Given the description of an element on the screen output the (x, y) to click on. 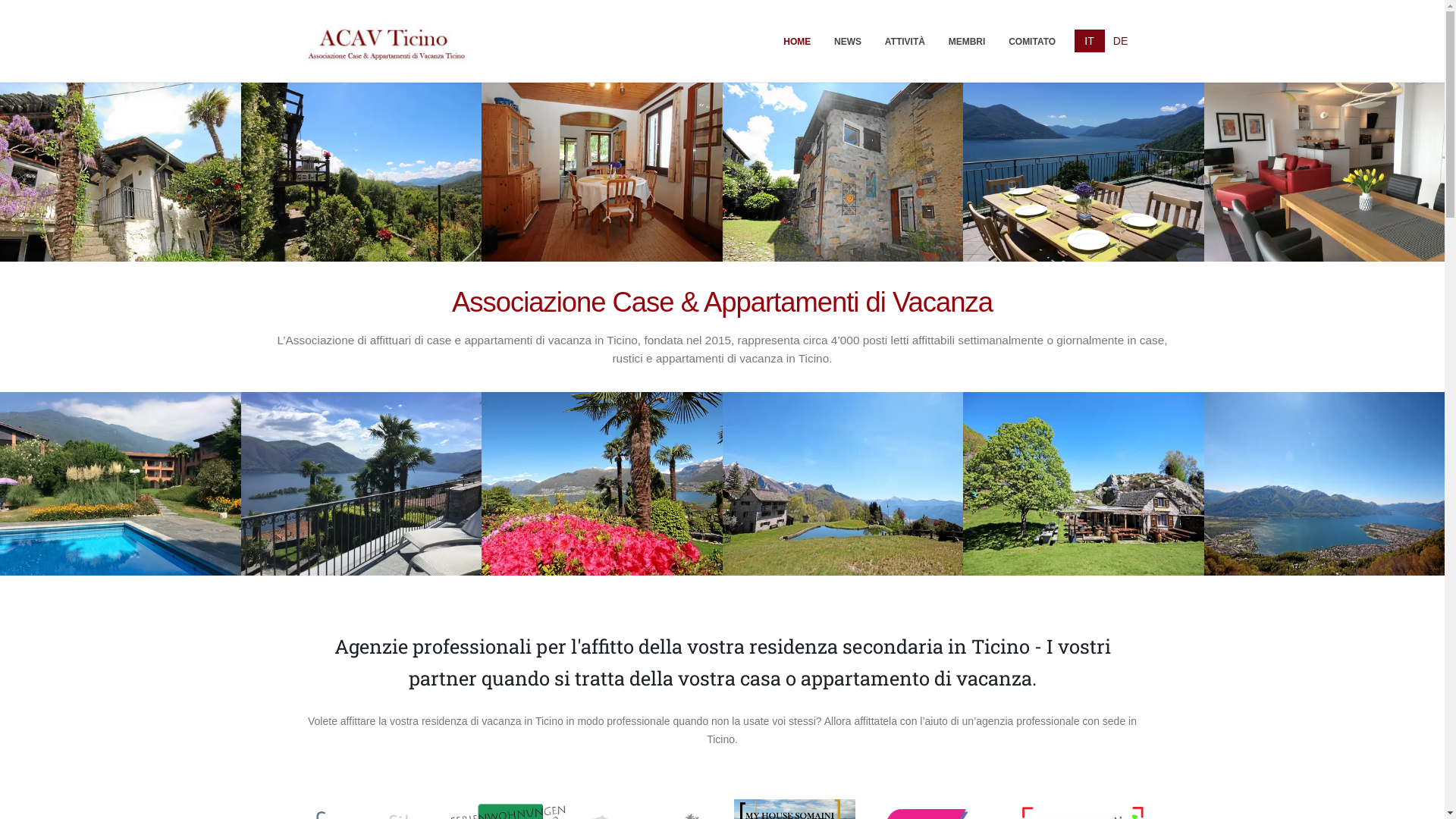
HOME Element type: text (797, 41)
MEMBRI Element type: text (966, 41)
NEWS Element type: text (847, 41)
DE Element type: text (1120, 40)
COMITATO Element type: text (1031, 41)
IT Element type: text (1089, 40)
